Given the description of an element on the screen output the (x, y) to click on. 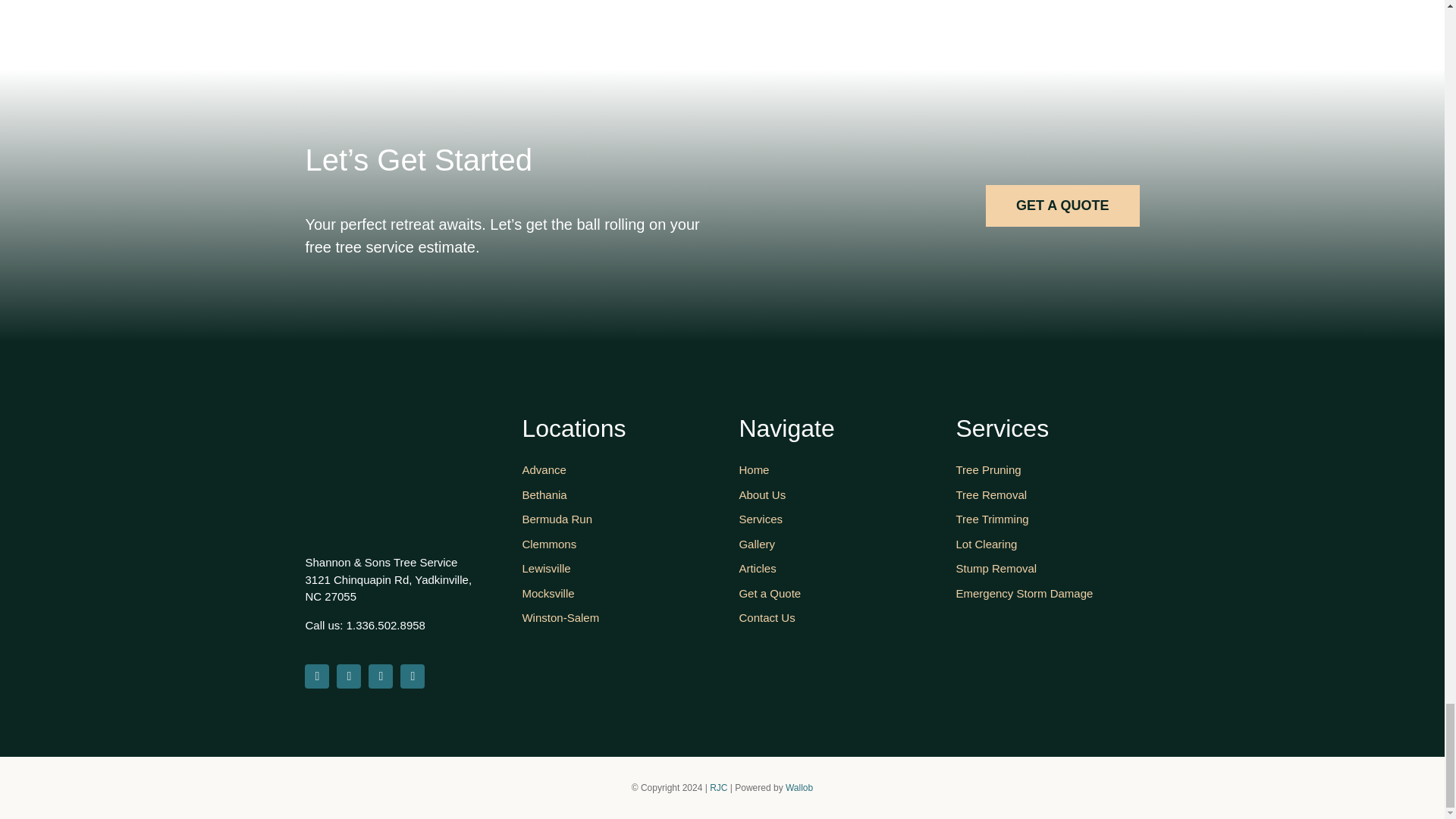
GET A QUOTE (1062, 205)
Shannon And Sons Tree Service (361, 467)
